Given the description of an element on the screen output the (x, y) to click on. 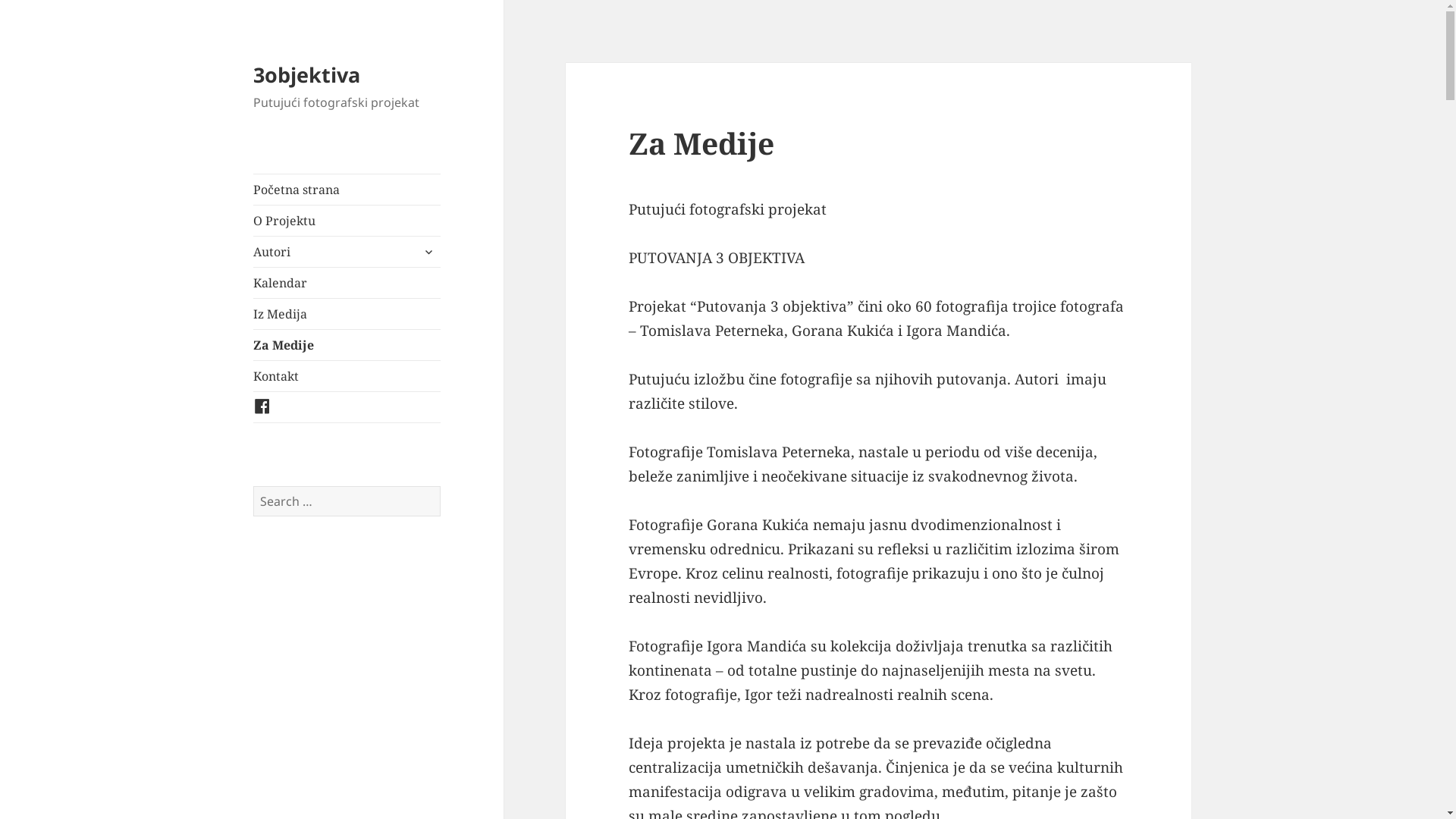
expand child menu Element type: text (428, 251)
3objektiva Element type: text (306, 74)
Za Medije Element type: text (347, 344)
Iz Medija Element type: text (347, 313)
Facebook Element type: text (347, 407)
Kalendar Element type: text (347, 282)
Kontakt Element type: text (347, 375)
Autori Element type: text (347, 251)
O Projektu Element type: text (347, 220)
Search Element type: text (440, 486)
